Given the description of an element on the screen output the (x, y) to click on. 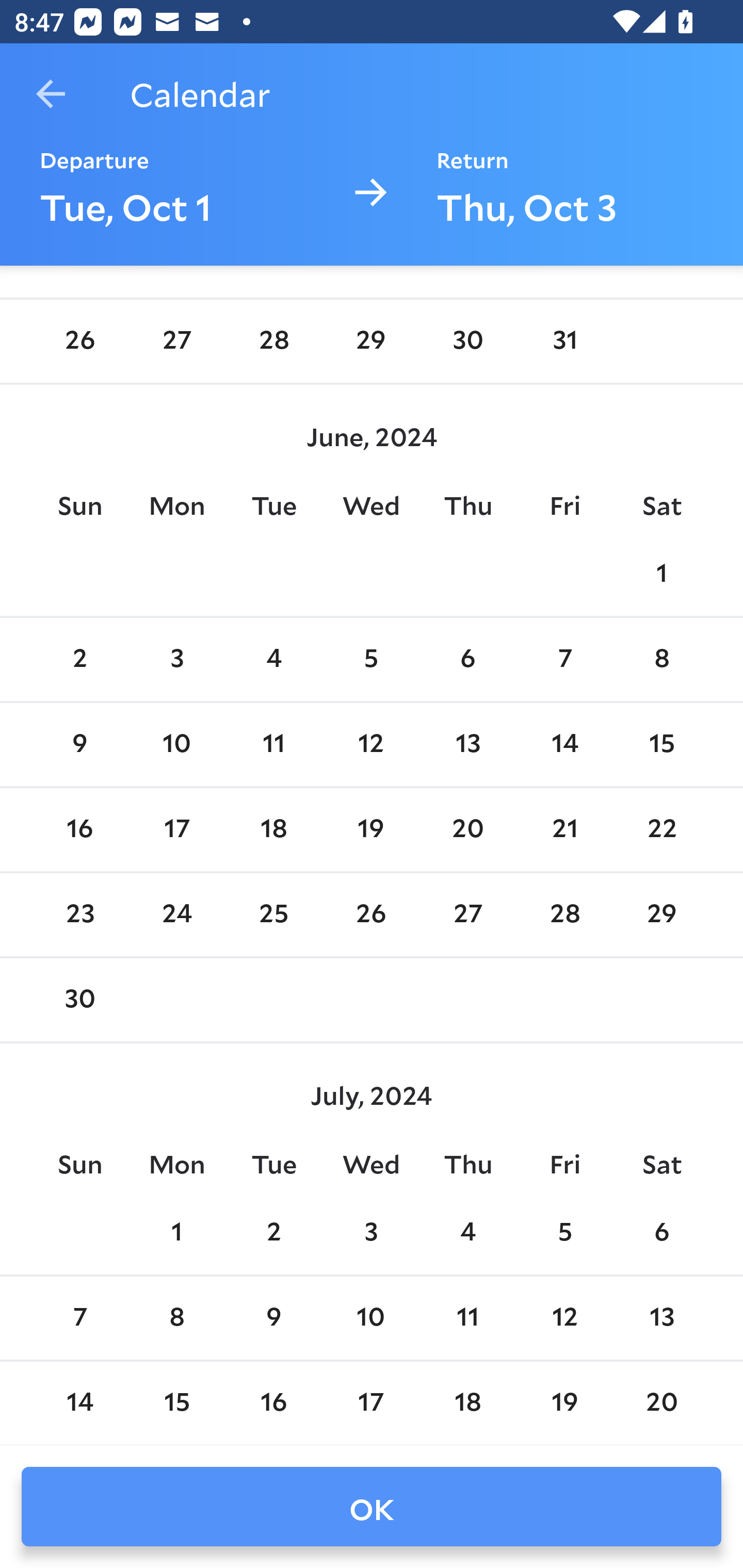
Navigate up (50, 93)
26 (79, 341)
27 (177, 341)
28 (273, 341)
29 (371, 341)
30 (467, 341)
31 (565, 341)
1 (661, 573)
2 (79, 660)
3 (177, 660)
4 (273, 660)
5 (371, 660)
6 (467, 660)
7 (565, 660)
8 (661, 660)
9 (79, 744)
10 (177, 744)
11 (273, 744)
12 (371, 744)
13 (467, 744)
14 (565, 744)
15 (661, 744)
16 (79, 829)
17 (177, 829)
18 (273, 829)
19 (371, 829)
20 (467, 829)
21 (565, 829)
22 (661, 829)
23 (79, 915)
24 (177, 915)
25 (273, 915)
26 (371, 915)
27 (467, 915)
28 (565, 915)
29 (661, 915)
30 (79, 1000)
1 (177, 1233)
2 (273, 1233)
3 (371, 1233)
4 (467, 1233)
5 (565, 1233)
6 (661, 1233)
7 (79, 1318)
8 (177, 1318)
9 (273, 1318)
10 (371, 1318)
11 (467, 1318)
12 (565, 1318)
13 (661, 1318)
14 (79, 1403)
15 (177, 1403)
16 (273, 1403)
17 (371, 1403)
18 (467, 1403)
19 (565, 1403)
20 (661, 1403)
OK (371, 1506)
